Given the description of an element on the screen output the (x, y) to click on. 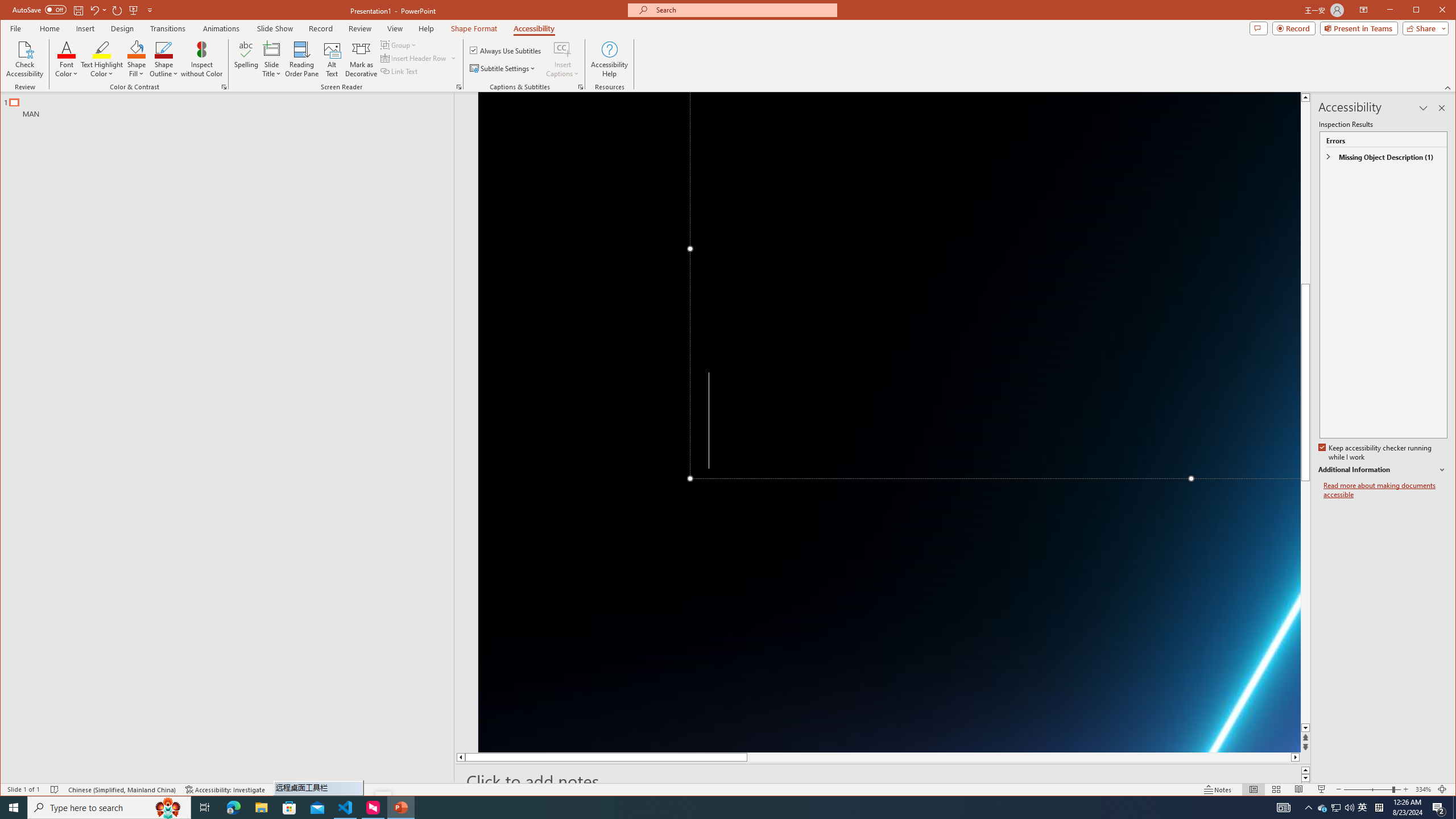
Shape Format (473, 28)
File Explorer (261, 807)
Action Center, 2 new notifications (1439, 807)
Insert Header Row (413, 57)
Title TextBox (995, 284)
Insert Captions (562, 48)
Spelling... (246, 59)
Subtitle Settings (502, 68)
Read more about making documents accessible (1385, 489)
